Given the description of an element on the screen output the (x, y) to click on. 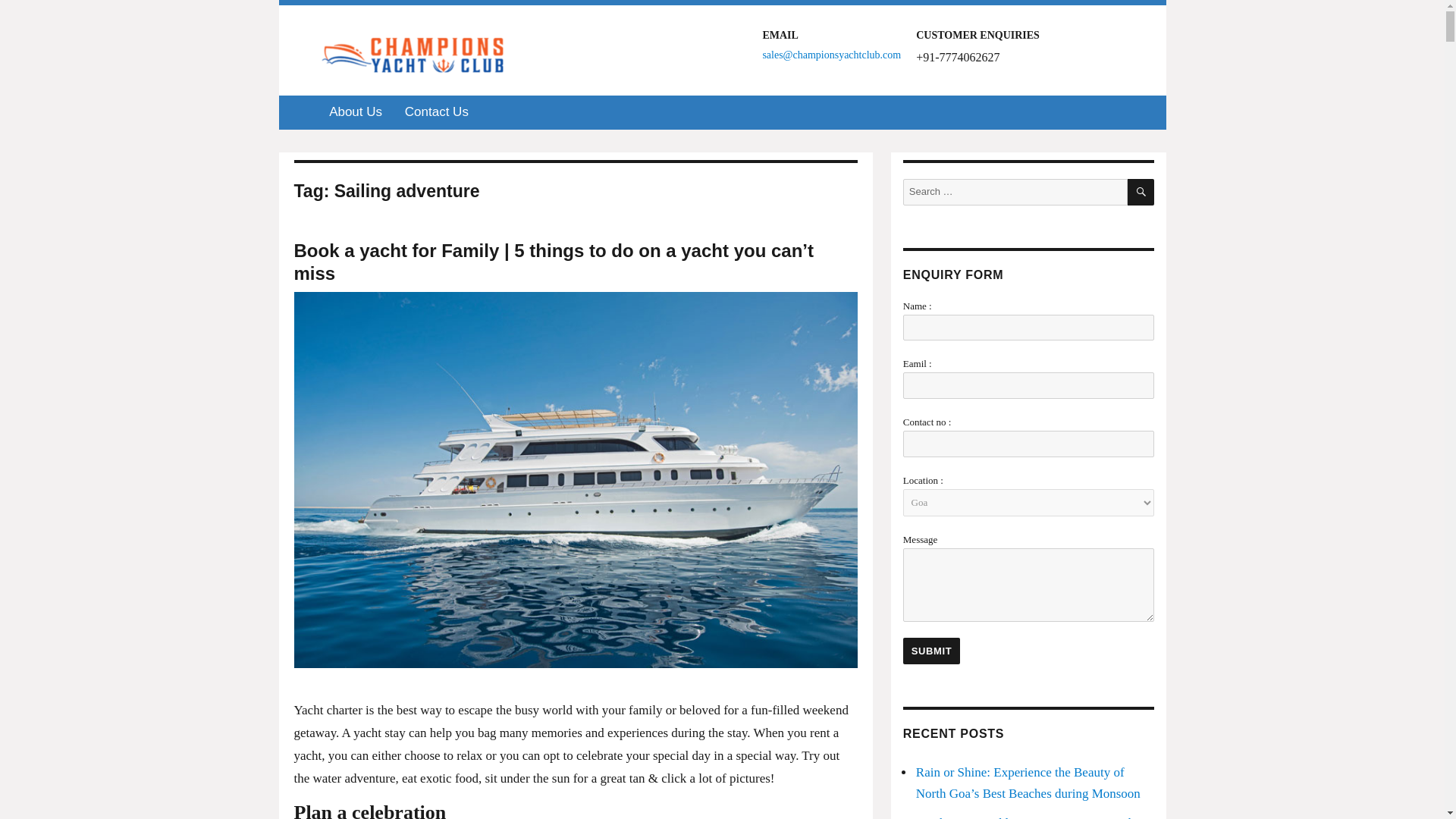
Submit (931, 651)
Contact Us (436, 112)
About Us (355, 112)
